Given the description of an element on the screen output the (x, y) to click on. 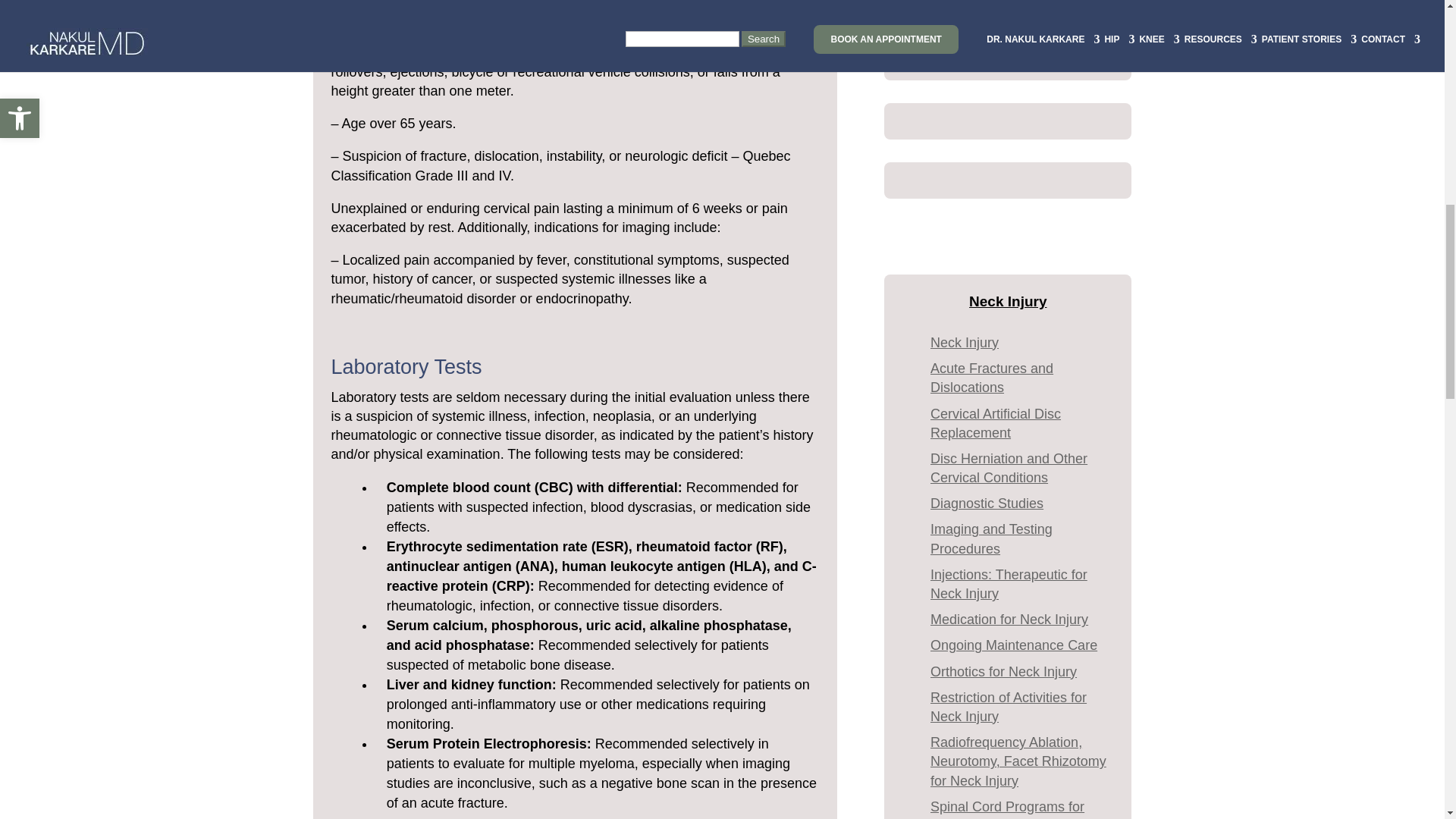
Dr. Nakul Karkare (1007, 28)
